Given the description of an element on the screen output the (x, y) to click on. 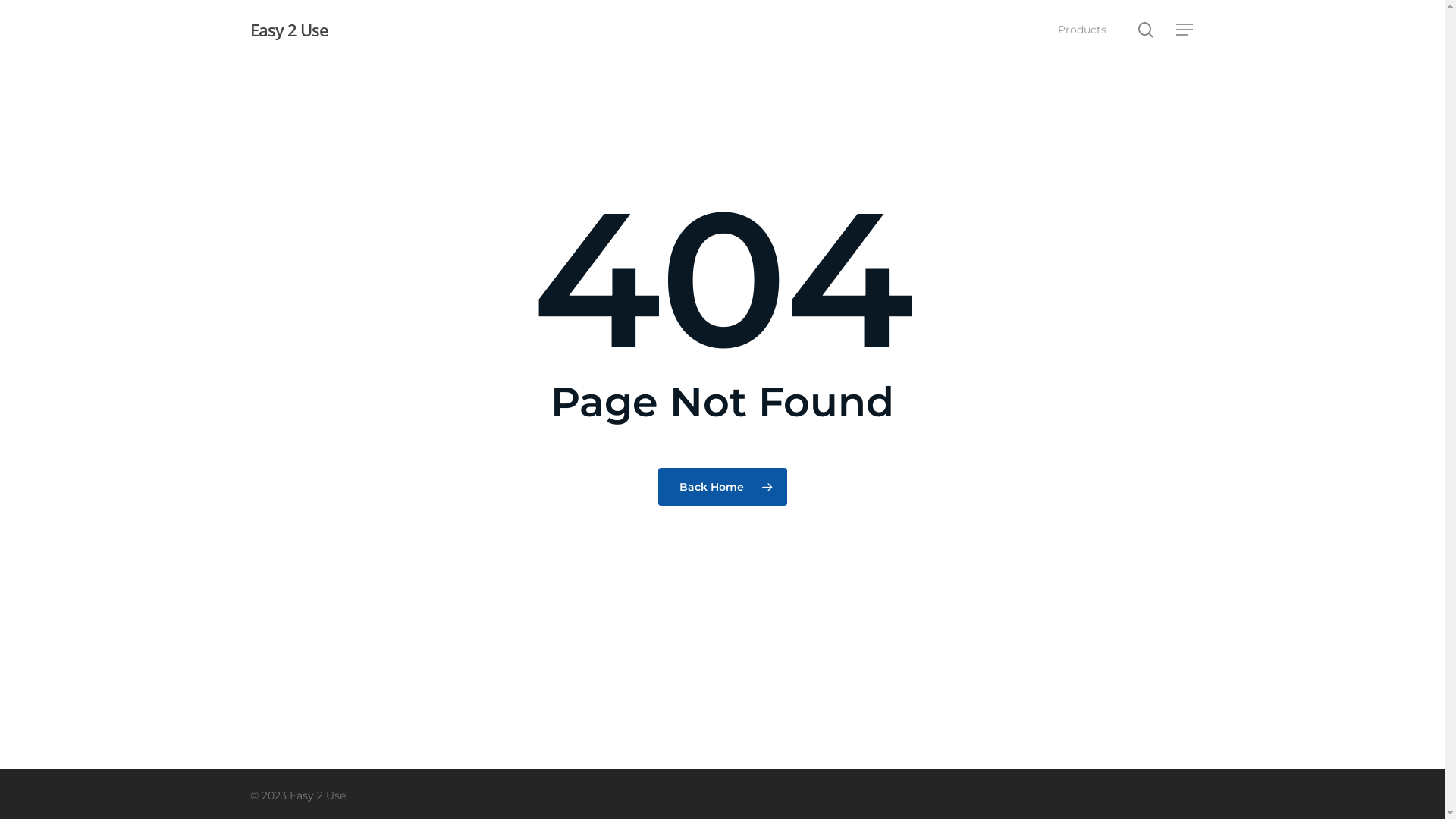
Products Element type: text (1081, 29)
search Element type: text (1145, 29)
Back Home Element type: text (722, 486)
Menu Element type: text (1185, 29)
Easy 2 Use Element type: text (289, 29)
